Given the description of an element on the screen output the (x, y) to click on. 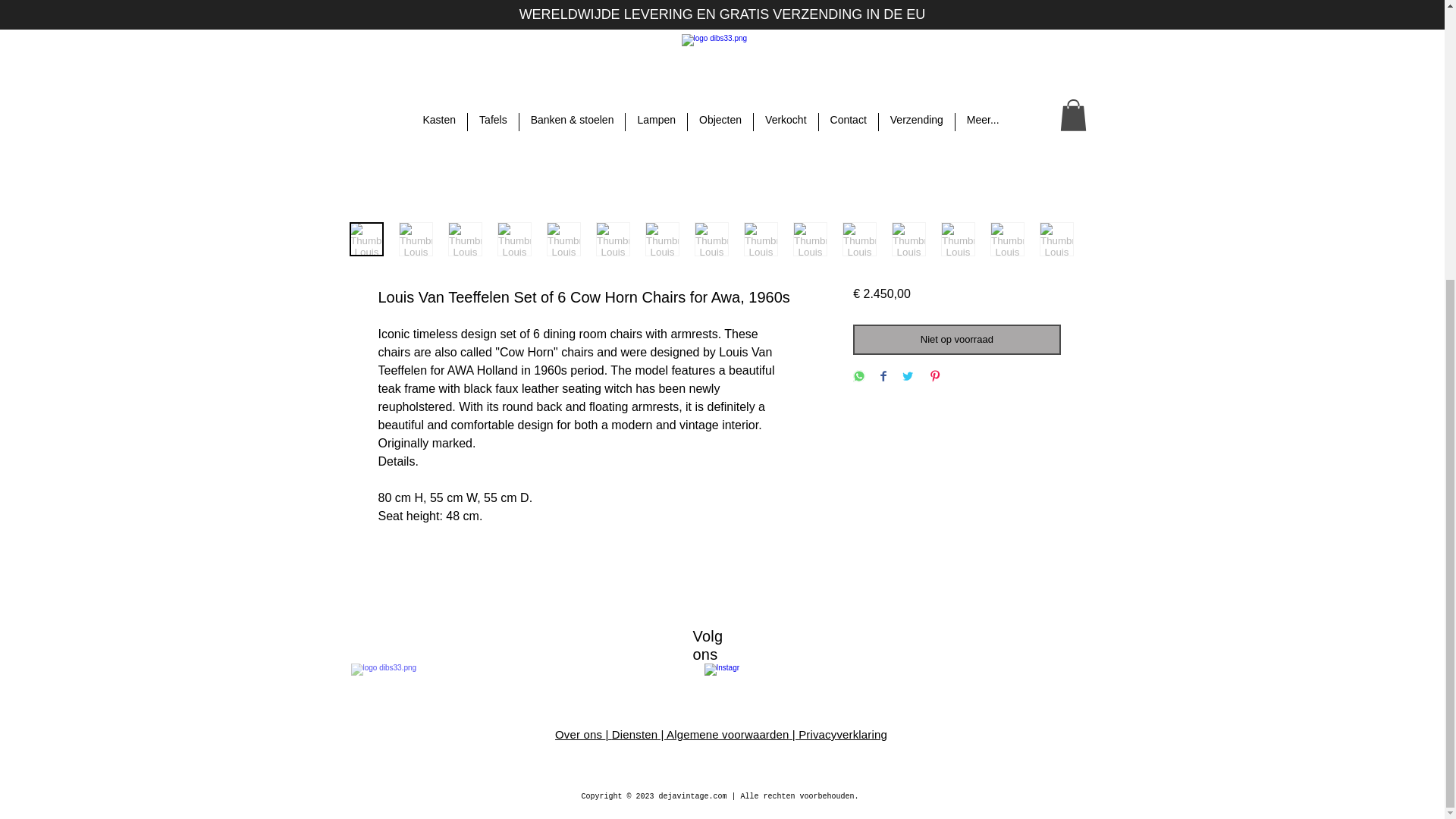
Over ons (579, 734)
Algemene voorwaarden (727, 734)
Niet op voorraad (956, 339)
Diensten (634, 734)
Privacyverklaring (841, 734)
